Given the description of an element on the screen output the (x, y) to click on. 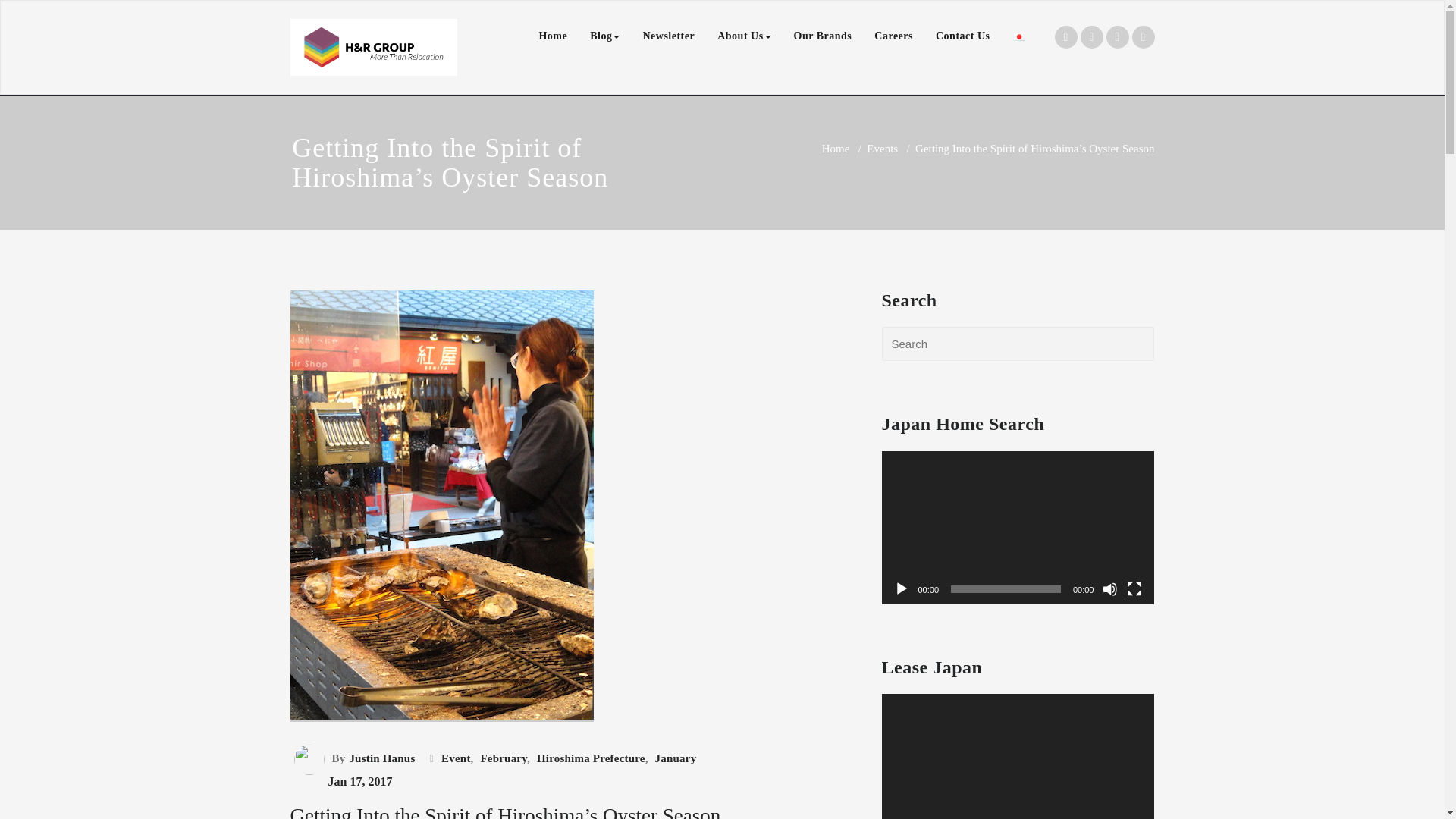
Justin Hanus (379, 758)
Hiroshima Prefecture (588, 758)
Newsletter (668, 36)
Events (882, 148)
Blog (604, 36)
Careers (893, 36)
Contact Us (962, 36)
Our Brands (823, 36)
Fullscreen (1133, 589)
February (501, 758)
